Given the description of an element on the screen output the (x, y) to click on. 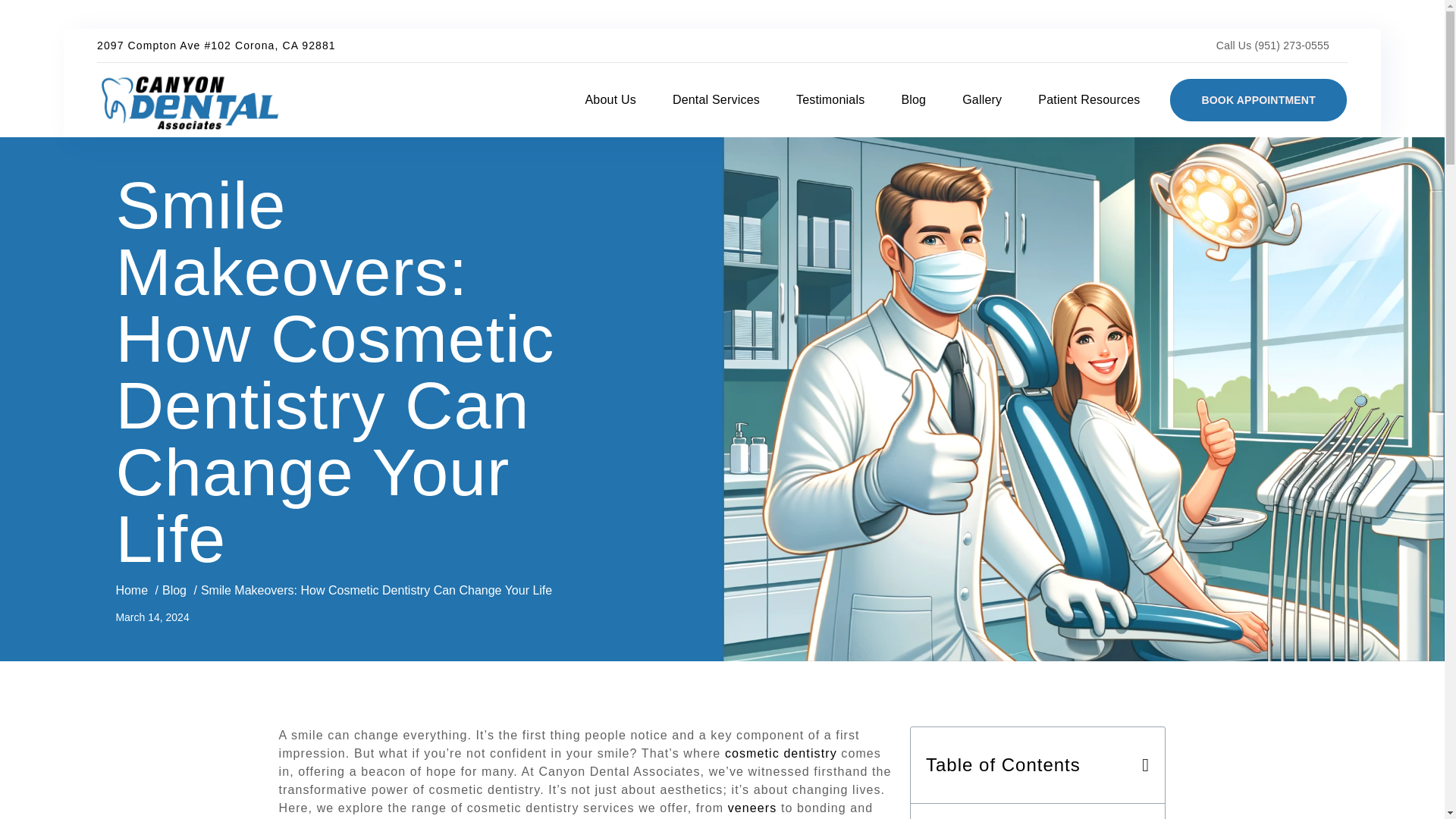
Blog (913, 100)
cosmetic dentistry (781, 753)
Testimonials (830, 100)
About Us (609, 100)
cosmetic dentistry (781, 753)
Dental Services (716, 100)
Patient Resources (1089, 100)
Blog (173, 590)
veneers (752, 807)
veneers (752, 807)
BOOK APPOINTMENT (1257, 99)
Home (131, 590)
Gallery (981, 100)
